Given the description of an element on the screen output the (x, y) to click on. 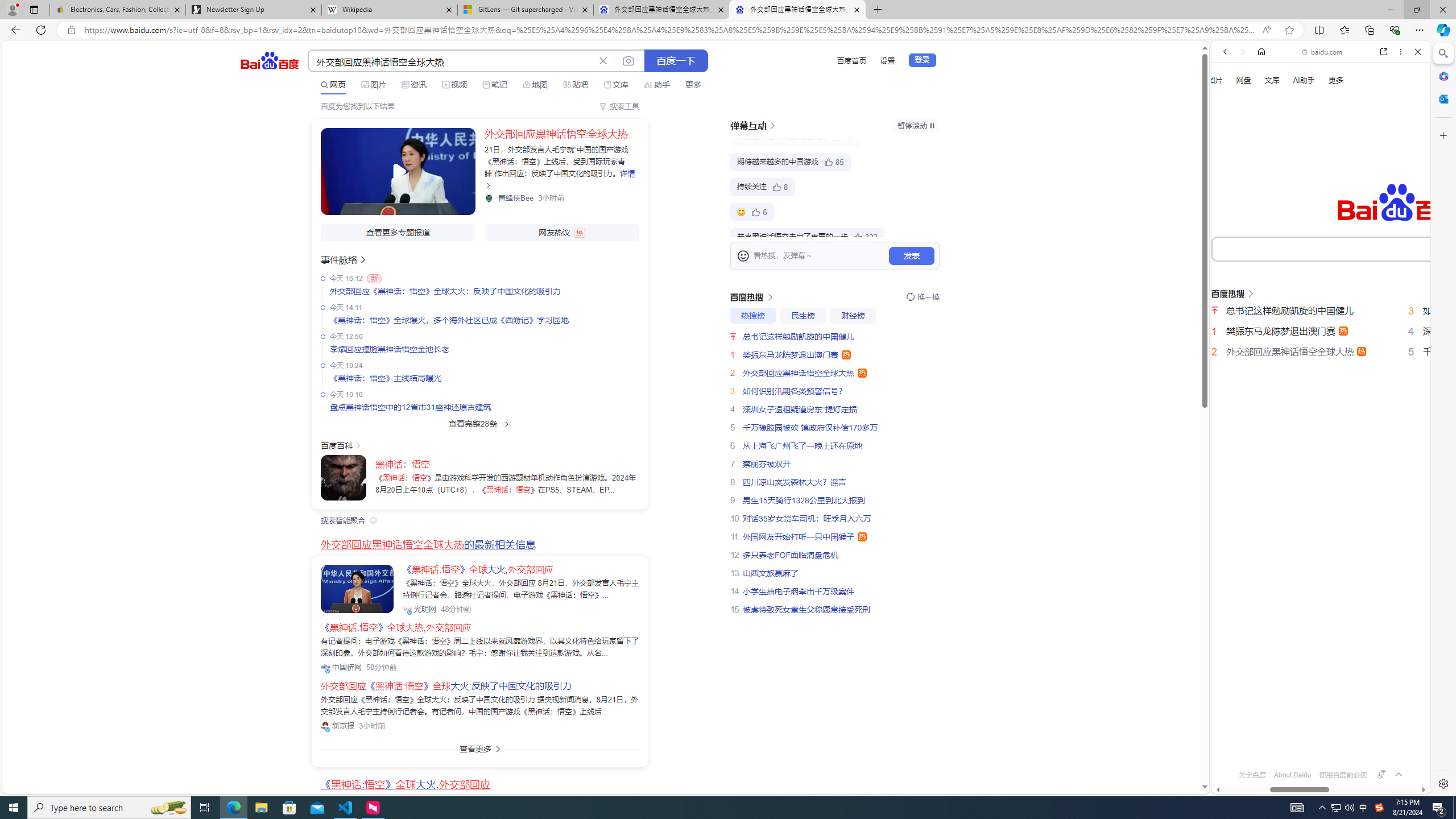
This site scope (1259, 102)
SEARCH TOOLS (1350, 192)
Address and search bar (669, 29)
IMAGES (1262, 192)
Search Filter, IMAGES (1262, 192)
Minimize (1390, 9)
Search Filter, WEB (1230, 192)
